Given the description of an element on the screen output the (x, y) to click on. 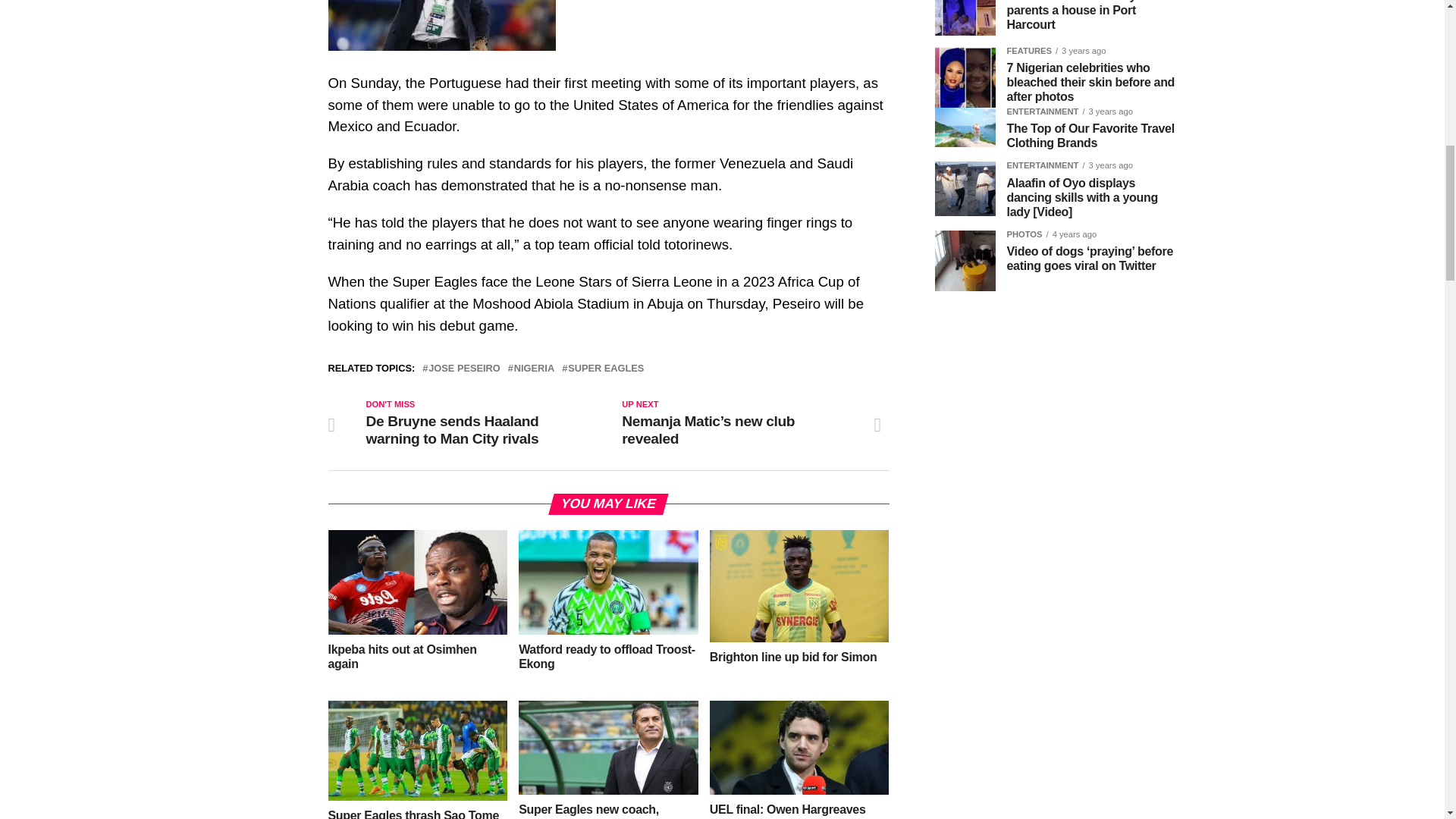
JOSE PESEIRO (464, 368)
SUPER EAGLES (605, 368)
NIGERIA (533, 368)
